Given the description of an element on the screen output the (x, y) to click on. 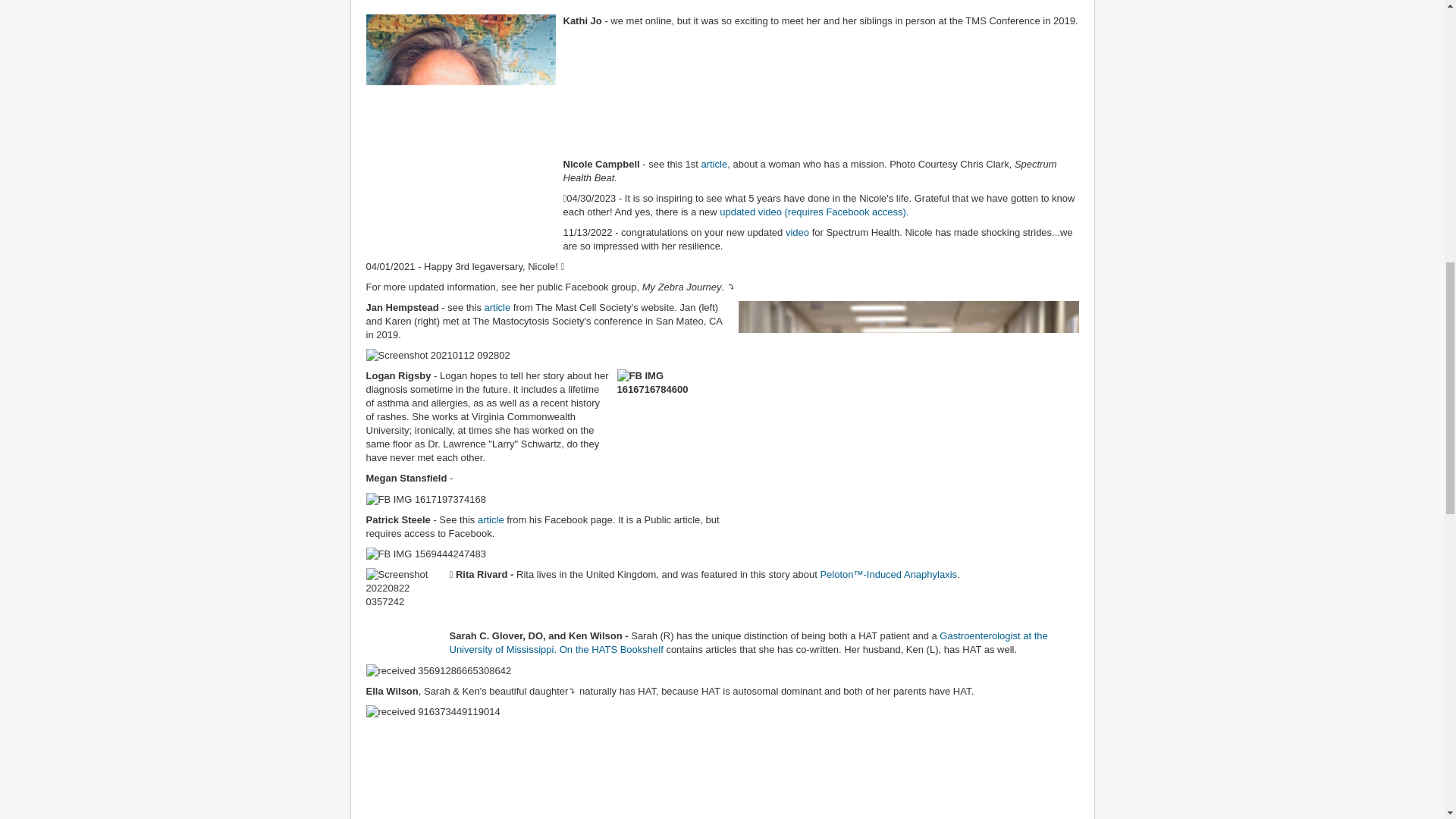
article (490, 519)
On the HATS Bookshelf (611, 649)
Gastroenterologist at the University of Mississippi. (747, 642)
video (797, 232)
article (714, 163)
article (497, 307)
